Given the description of an element on the screen output the (x, y) to click on. 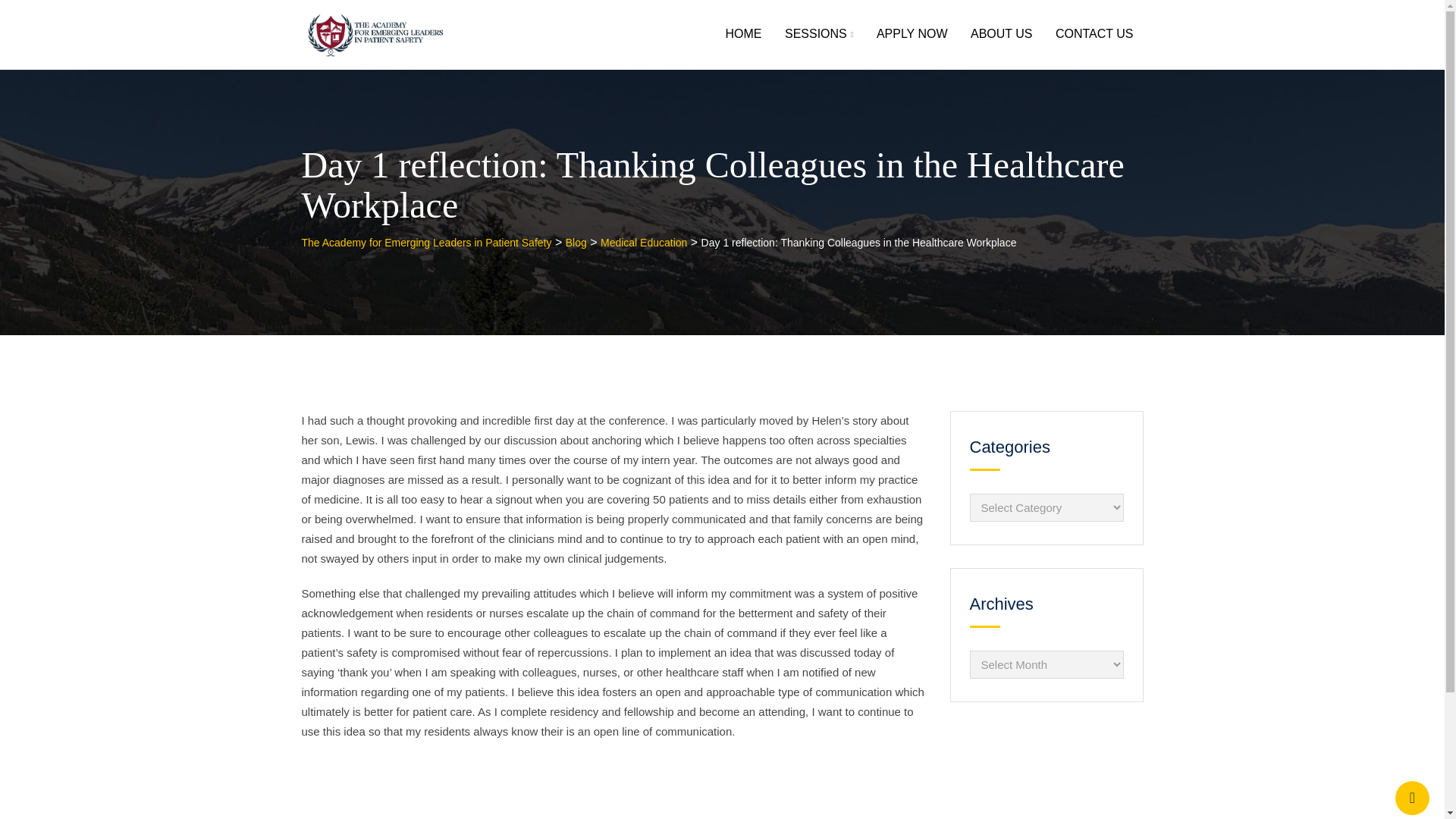
CONTACT US (1093, 33)
The Academy for Emerging Leaders in Patient Safety (426, 242)
Go to The Academy for Emerging Leaders in Patient Safety. (426, 242)
ABOUT US (1001, 33)
Medical Education (643, 242)
Go to the Medical Education Category archives. (643, 242)
Blog (576, 242)
Go to Blog. (576, 242)
APPLY NOW (912, 33)
SESSIONS (818, 34)
